Given the description of an element on the screen output the (x, y) to click on. 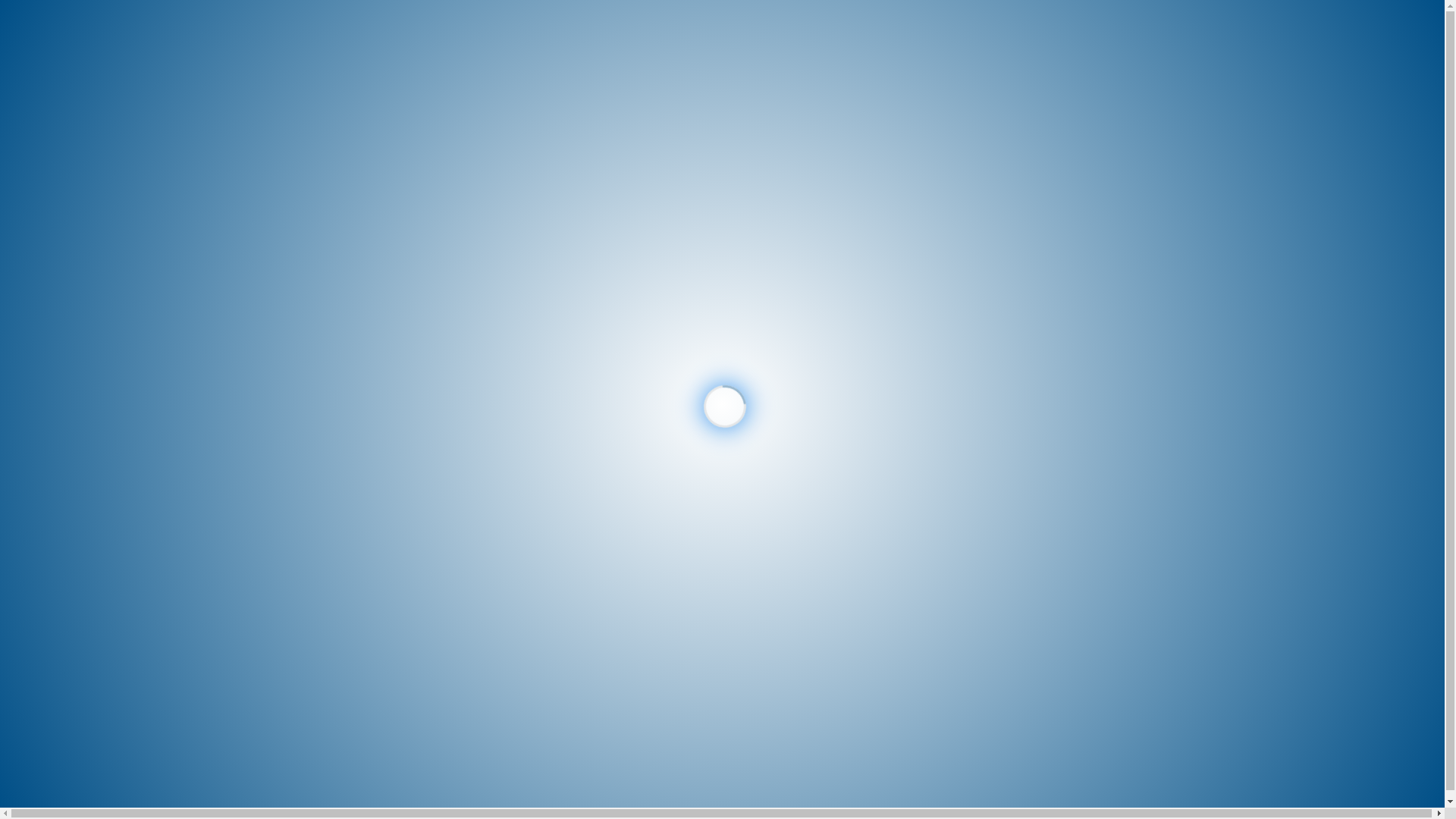
ABOUT Element type: text (53, 223)
Yachtandboat Element type: hover (1296, 324)
HOME Element type: text (51, 145)
TOGGLE NAVIGATION MENU Element type: text (83, 80)
SUPPORT Element type: text (1403, 26)
PORTFOLIO Element type: text (65, 184)
Equpment website Element type: hover (785, 324)
CONTACT Element type: text (60, 242)
PRODUCTS Element type: text (63, 165)
Ghost Voice Mail Element type: hover (1126, 324)
Caravan Element type: hover (613, 324)
Boatdeck Element type: hover (443, 324)
TESTIMONIAL Element type: text (70, 203)
Machinery Website Element type: hover (955, 324)
Yatco BoatDeck Element type: text (690, 380)
